Given the description of an element on the screen output the (x, y) to click on. 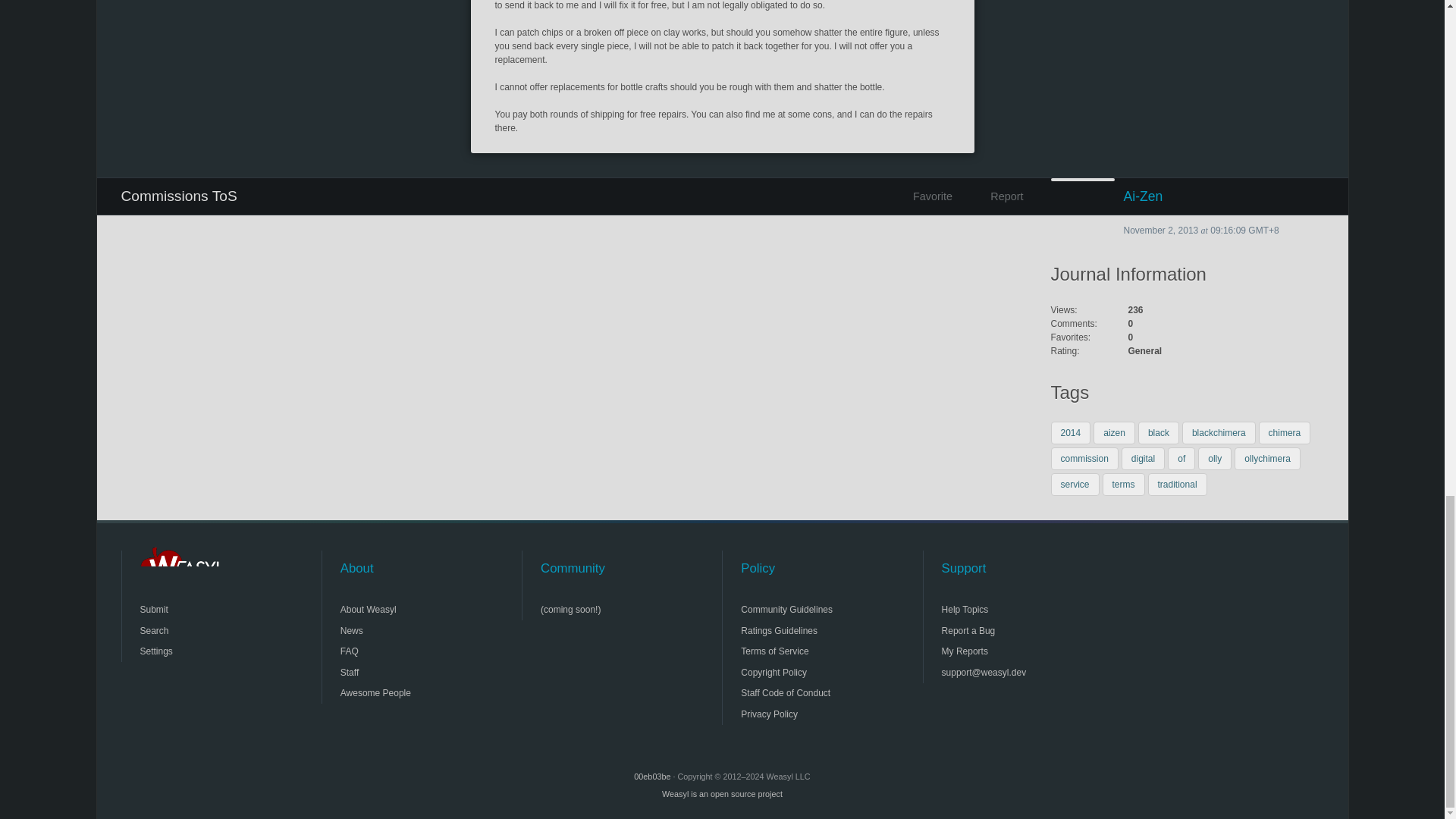
Settings (204, 650)
black (1158, 432)
digital (1142, 458)
About Weasyl (405, 608)
of (1181, 458)
Search (204, 630)
commission (1084, 458)
Submit (204, 608)
Ai-Zen (1187, 196)
traditional (1177, 484)
Favorite (927, 196)
ollychimera (1267, 458)
aizen (1114, 432)
Report (993, 196)
olly (1214, 458)
